Given the description of an element on the screen output the (x, y) to click on. 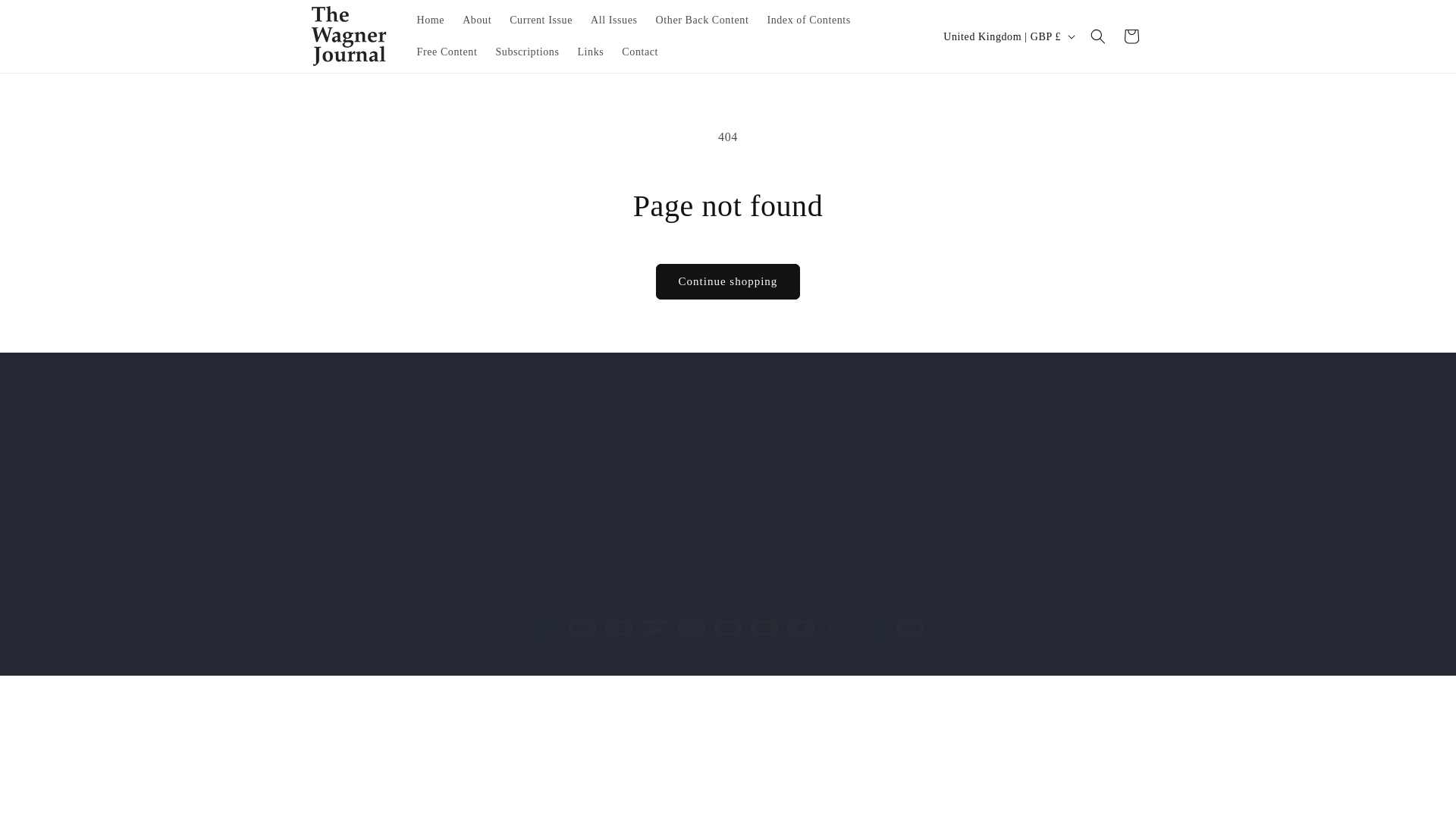
Skip to content (45, 17)
All Issues (613, 20)
Terms of Service (676, 456)
Home (430, 20)
Free Content (446, 51)
Index of Contents (808, 20)
Other Back Content (702, 20)
Contact Information (777, 456)
Contact (639, 51)
Search (522, 457)
Cart (1131, 36)
Listen to Parsifal Suite (895, 456)
About (476, 20)
